Given the description of an element on the screen output the (x, y) to click on. 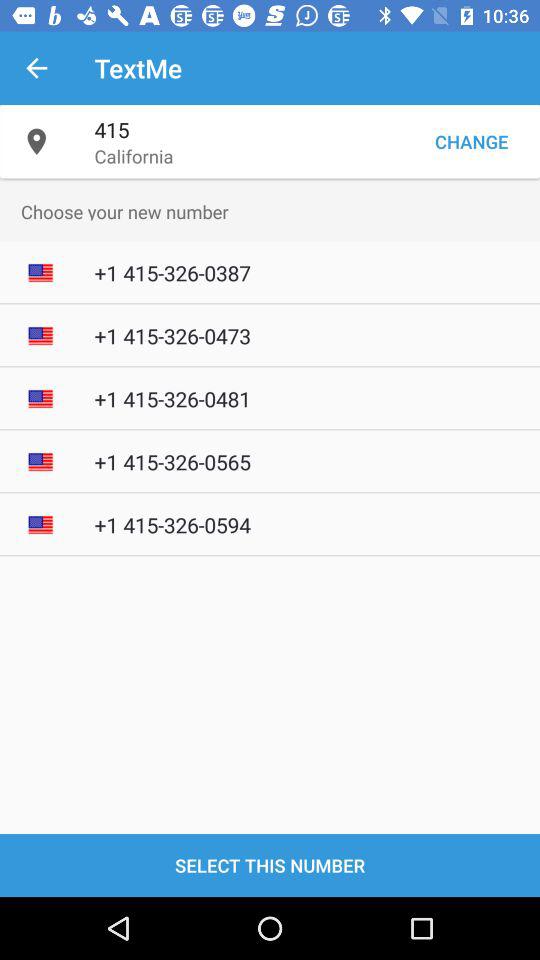
choose item at the top right corner (471, 141)
